Given the description of an element on the screen output the (x, y) to click on. 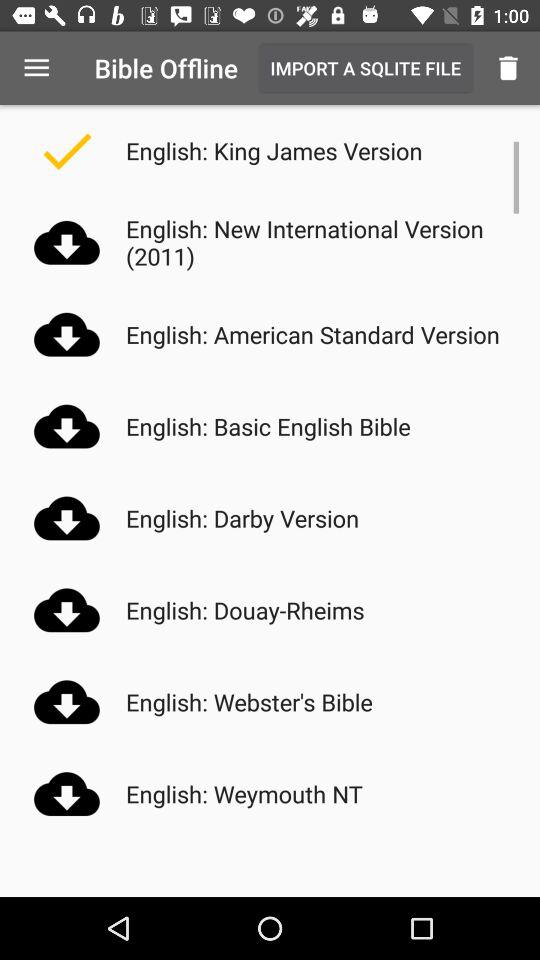
open the icon to the left of bible offline (36, 68)
